Given the description of an element on the screen output the (x, y) to click on. 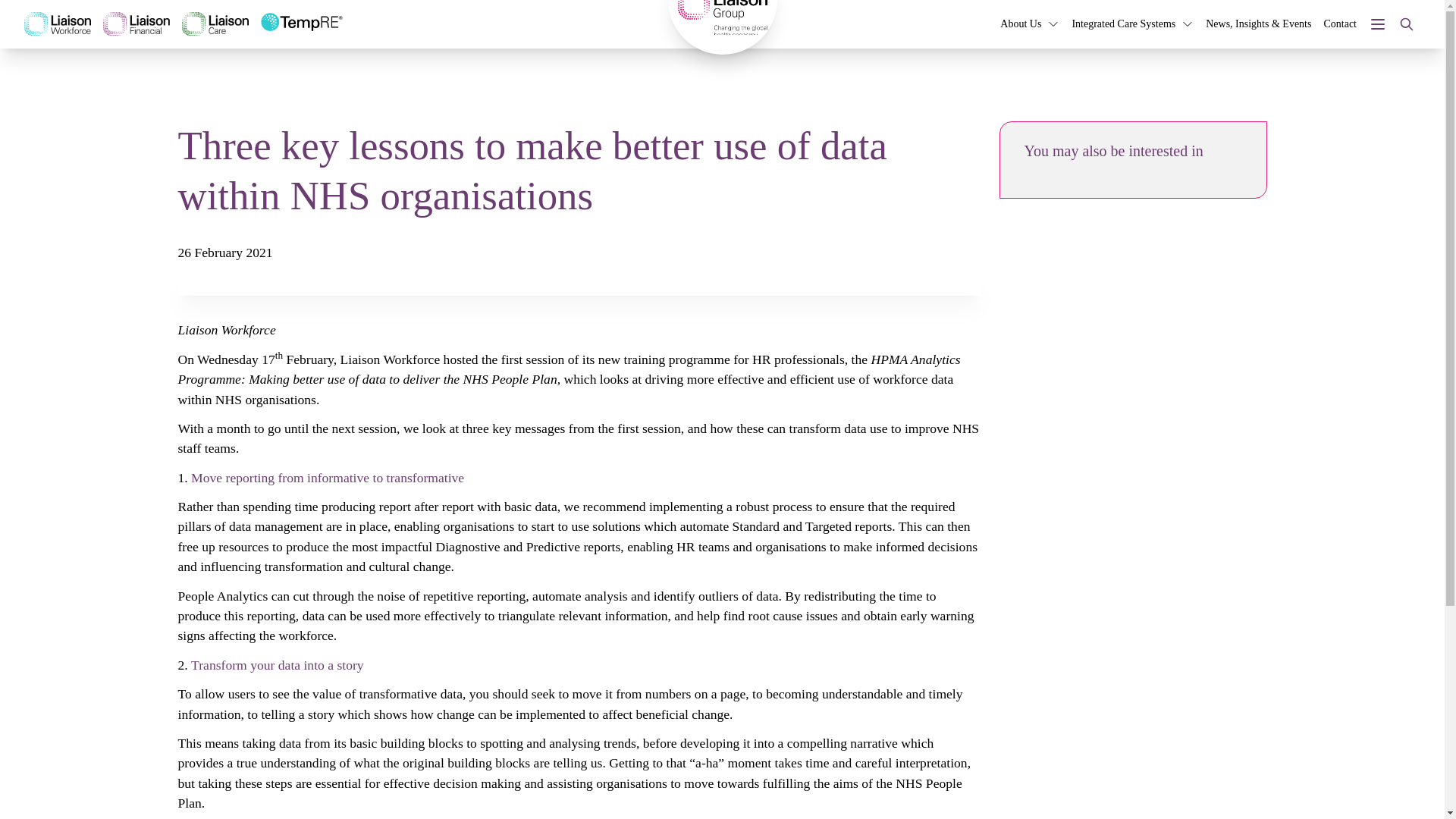
About Us (1020, 24)
Contact (1339, 24)
Integrated Care Systems (1122, 24)
